Given the description of an element on the screen output the (x, y) to click on. 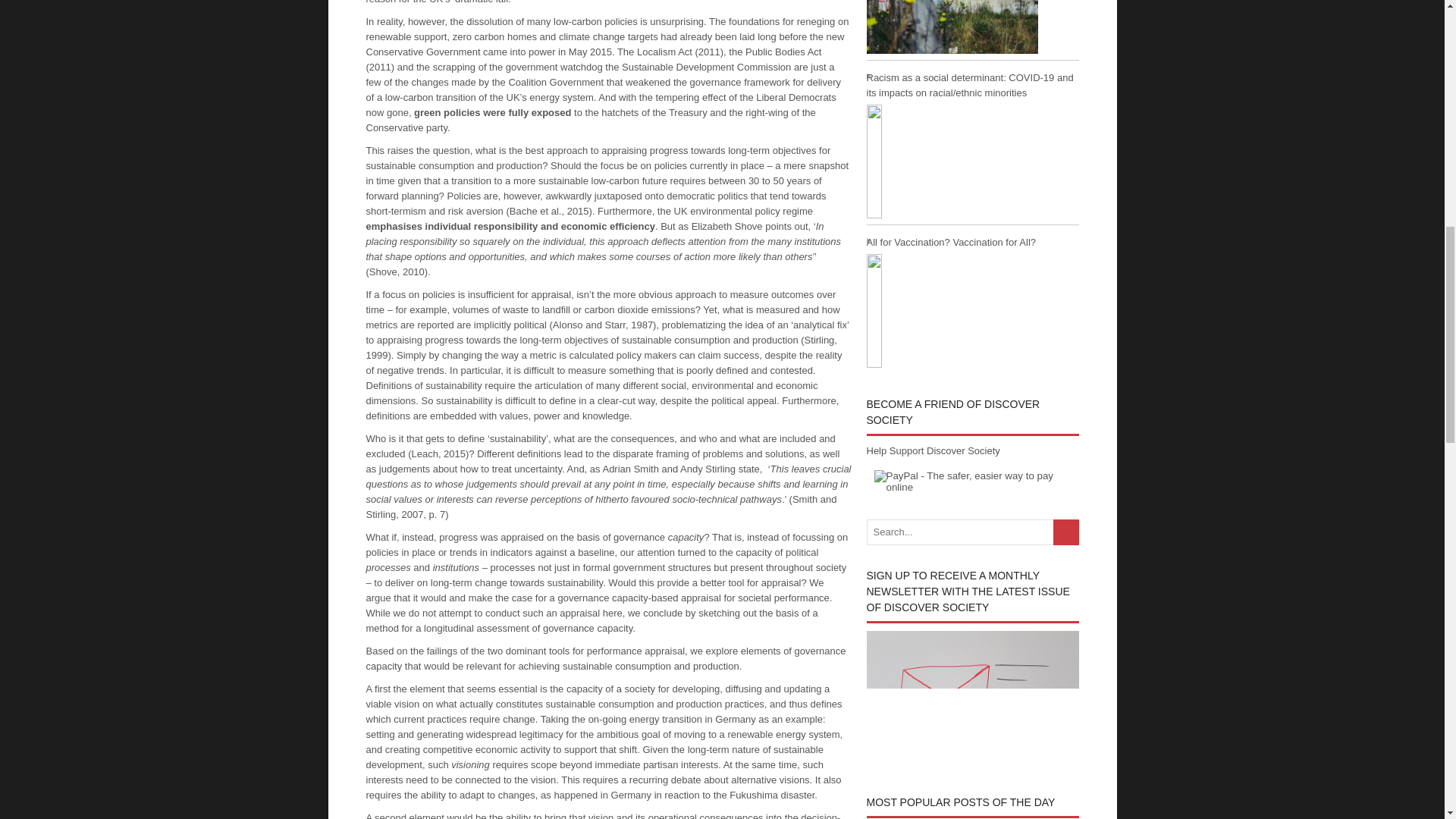
emphasises individual responsibility and economic efficiency (509, 225)
Some hope for migrants and refugees in the time of COVID-19? (972, 28)
All for Vaccination? Vaccination for All? (972, 303)
green policies were fully exposed (491, 111)
Help Support Discover Society (932, 449)
